Given the description of an element on the screen output the (x, y) to click on. 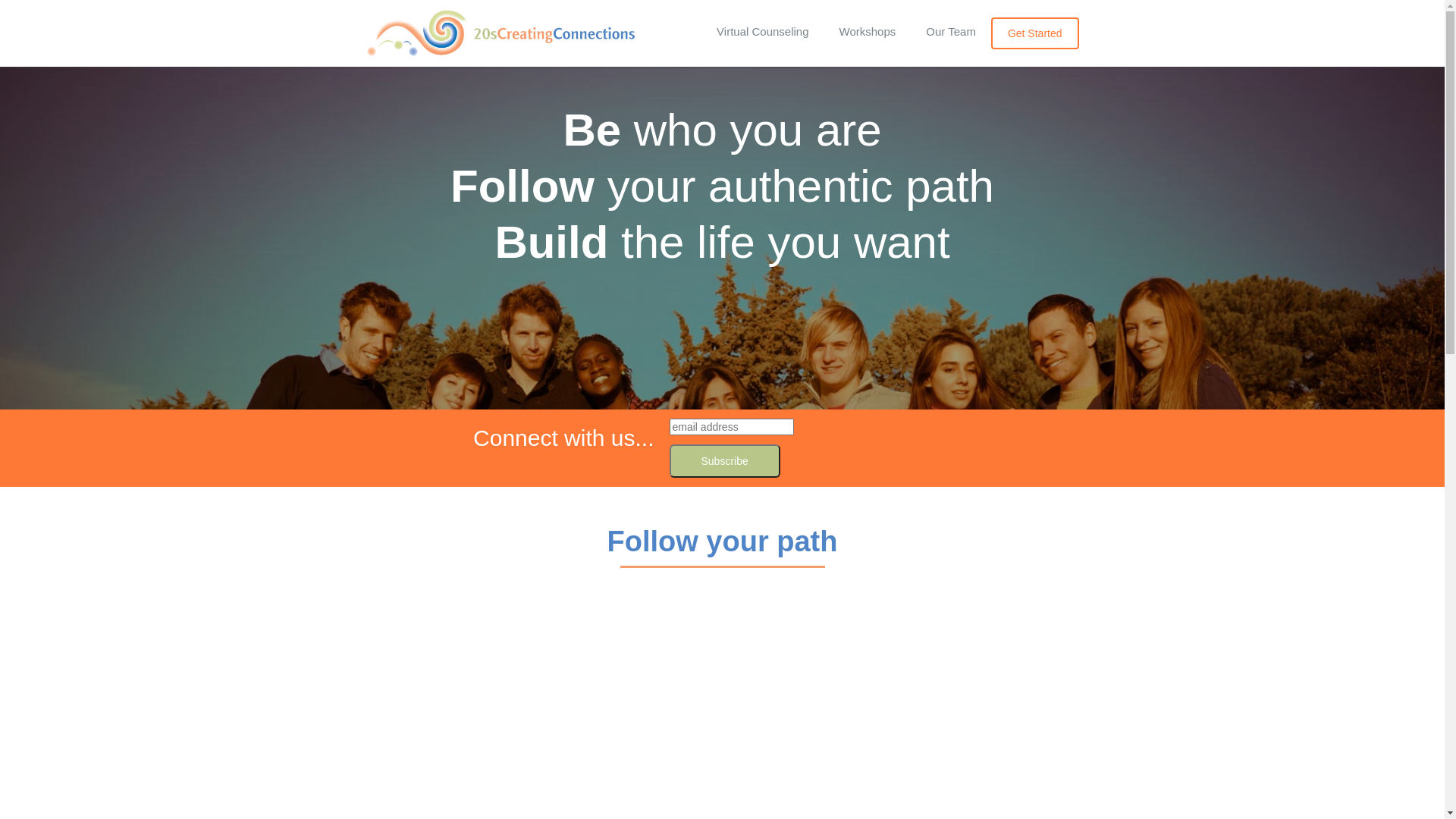
Our Team Element type: text (950, 31)
Subscribe Element type: text (723, 460)
Get Started Element type: text (1035, 33)
Virtual Counseling Element type: text (762, 31)
Workshops Element type: text (867, 31)
